Given the description of an element on the screen output the (x, y) to click on. 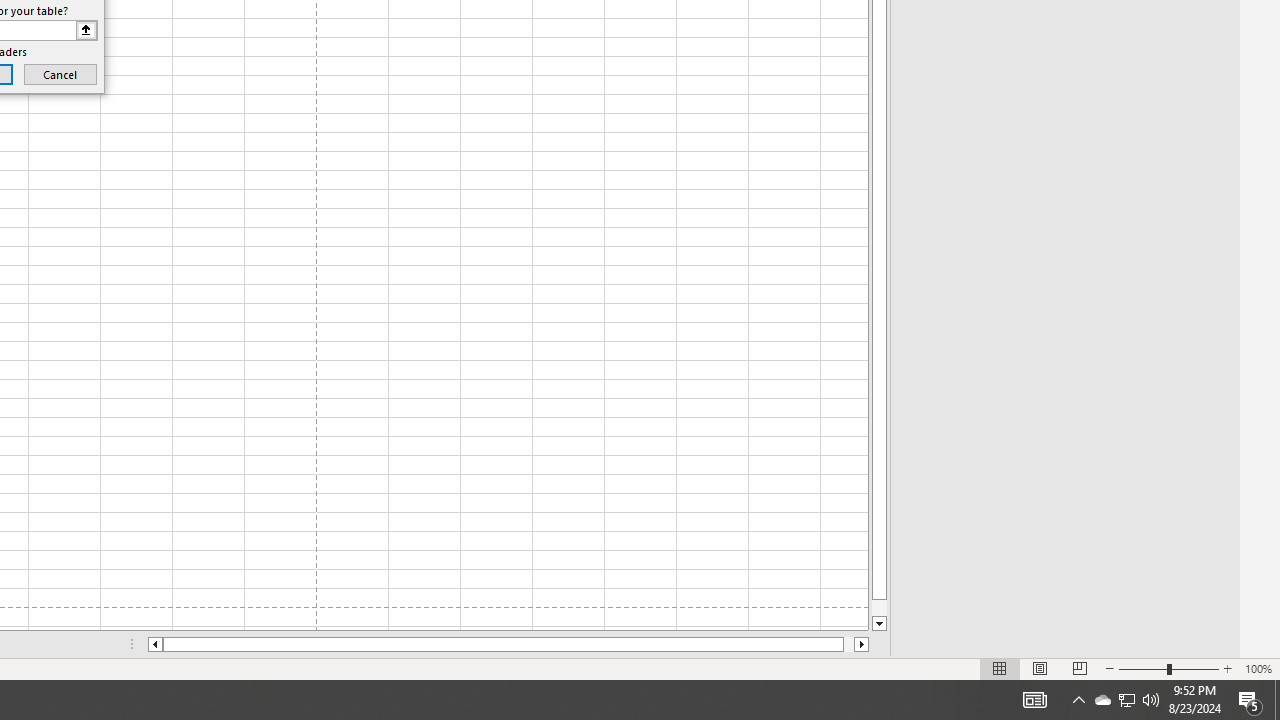
Page Layout (1039, 668)
Page right (848, 644)
Column left (153, 644)
Zoom Out (1142, 668)
Zoom (1168, 668)
Normal (1000, 668)
Zoom In (1227, 668)
Class: NetUIScrollBar (507, 644)
Line down (879, 624)
Page down (879, 607)
Column right (861, 644)
Page Break Preview (1079, 668)
